Given the description of an element on the screen output the (x, y) to click on. 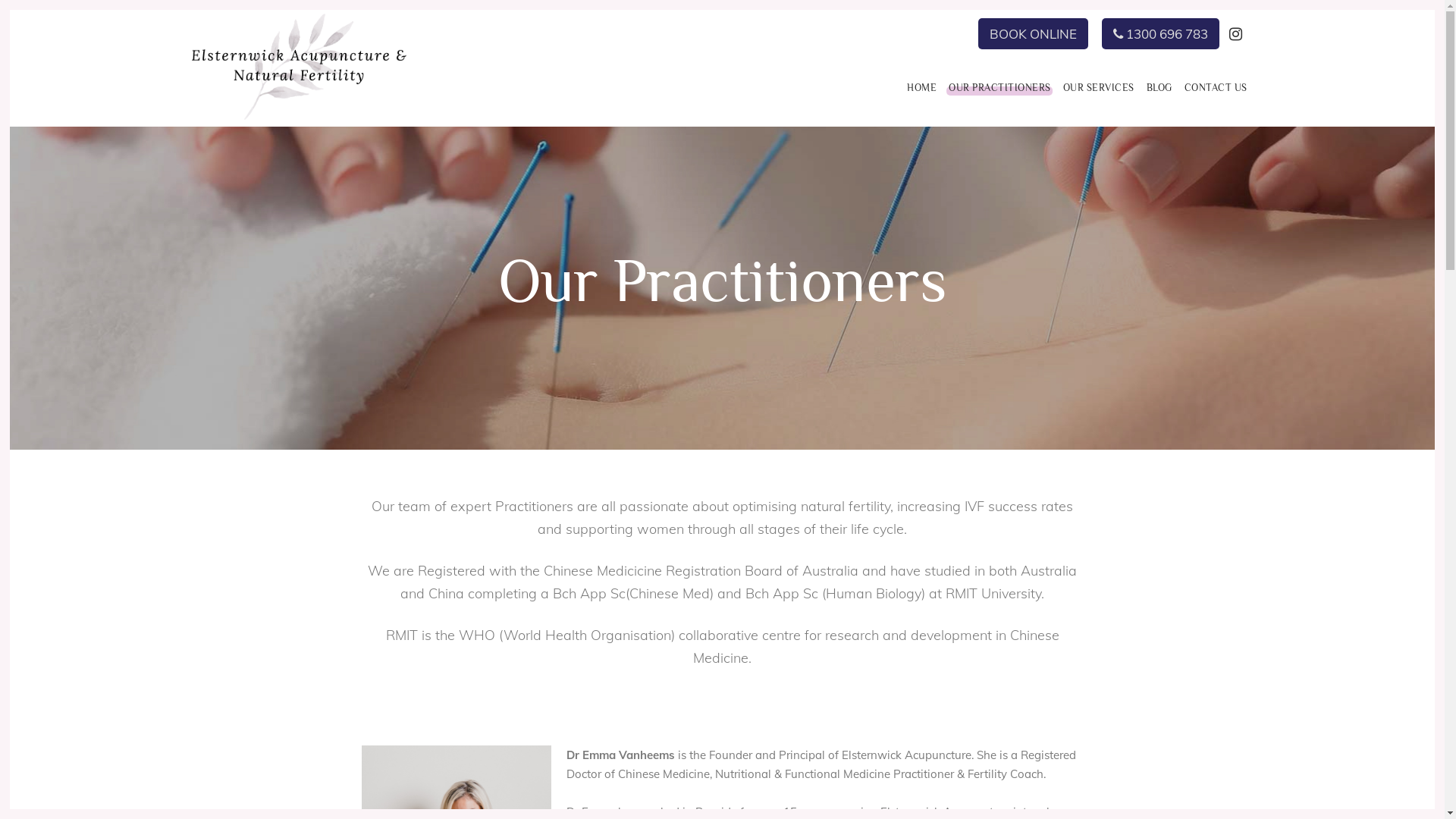
OUR PRACTITIONERS Element type: text (999, 87)
1300 696 783 Element type: text (1159, 33)
BOOK ONLINE Element type: text (1033, 33)
CONTACT US Element type: text (1215, 87)
BLOG Element type: text (1159, 87)
OUR SERVICES Element type: text (1098, 87)
HOME Element type: text (921, 87)
